Given the description of an element on the screen output the (x, y) to click on. 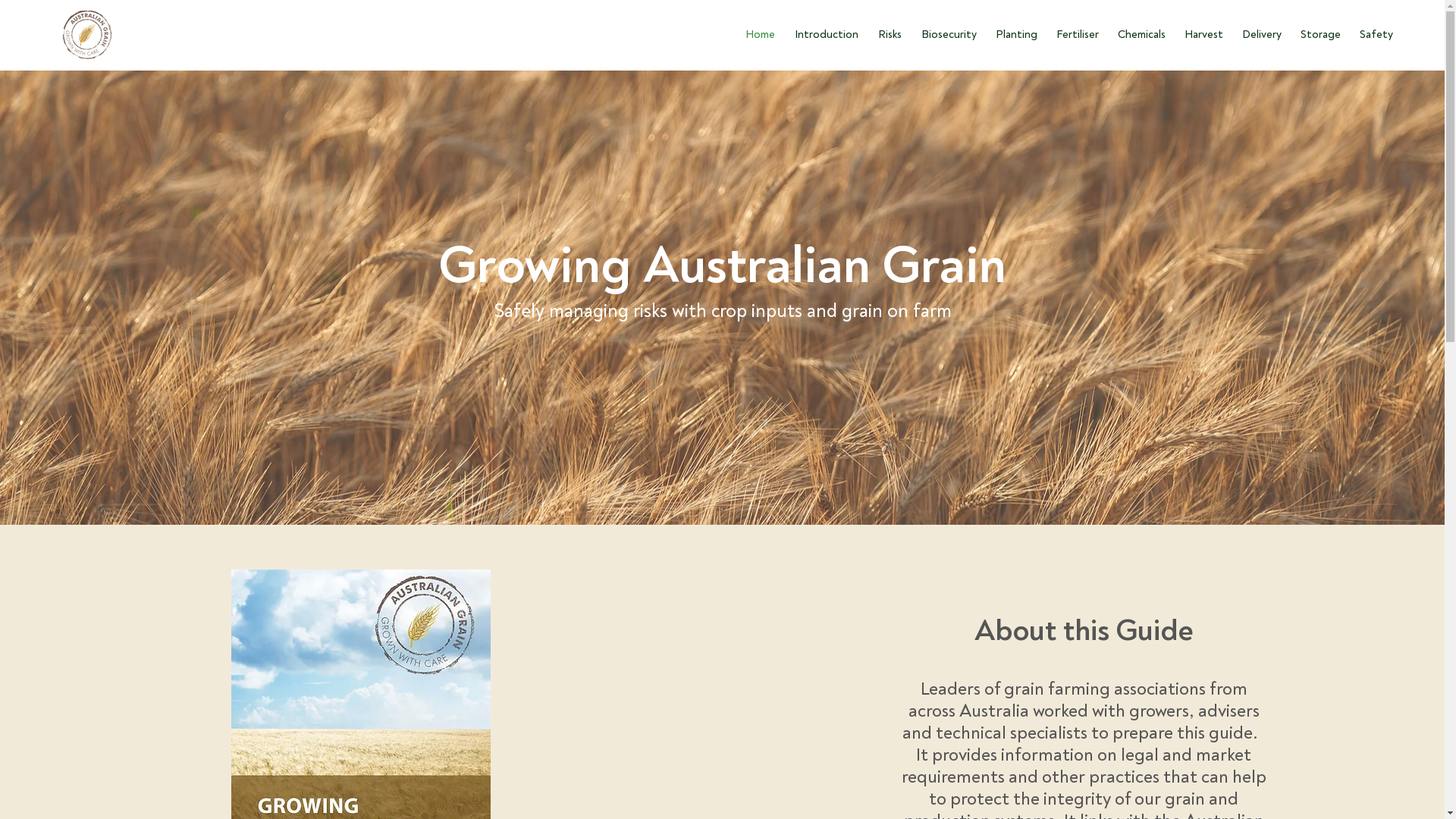
Fertiliser Element type: text (1075, 34)
Delivery Element type: text (1259, 34)
Home Element type: text (757, 34)
Storage Element type: text (1318, 34)
Planting Element type: text (1014, 34)
Chemicals Element type: text (1139, 34)
Risks Element type: text (887, 34)
Biosecurity Element type: text (946, 34)
Harvest Element type: text (1201, 34)
Introduction Element type: text (824, 34)
Safety Element type: text (1374, 34)
